Given the description of an element on the screen output the (x, y) to click on. 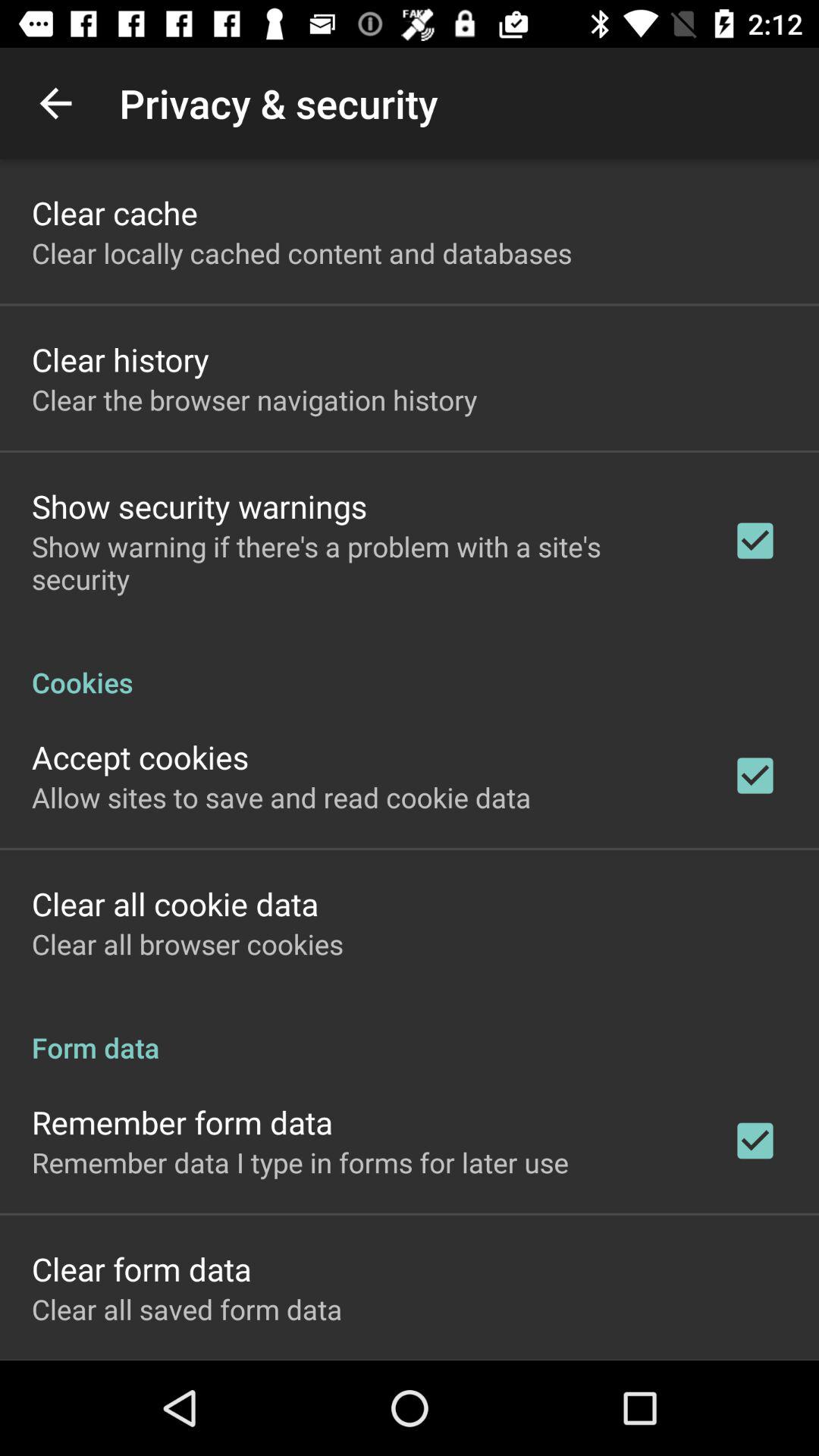
choose app above clear history app (301, 252)
